Given the description of an element on the screen output the (x, y) to click on. 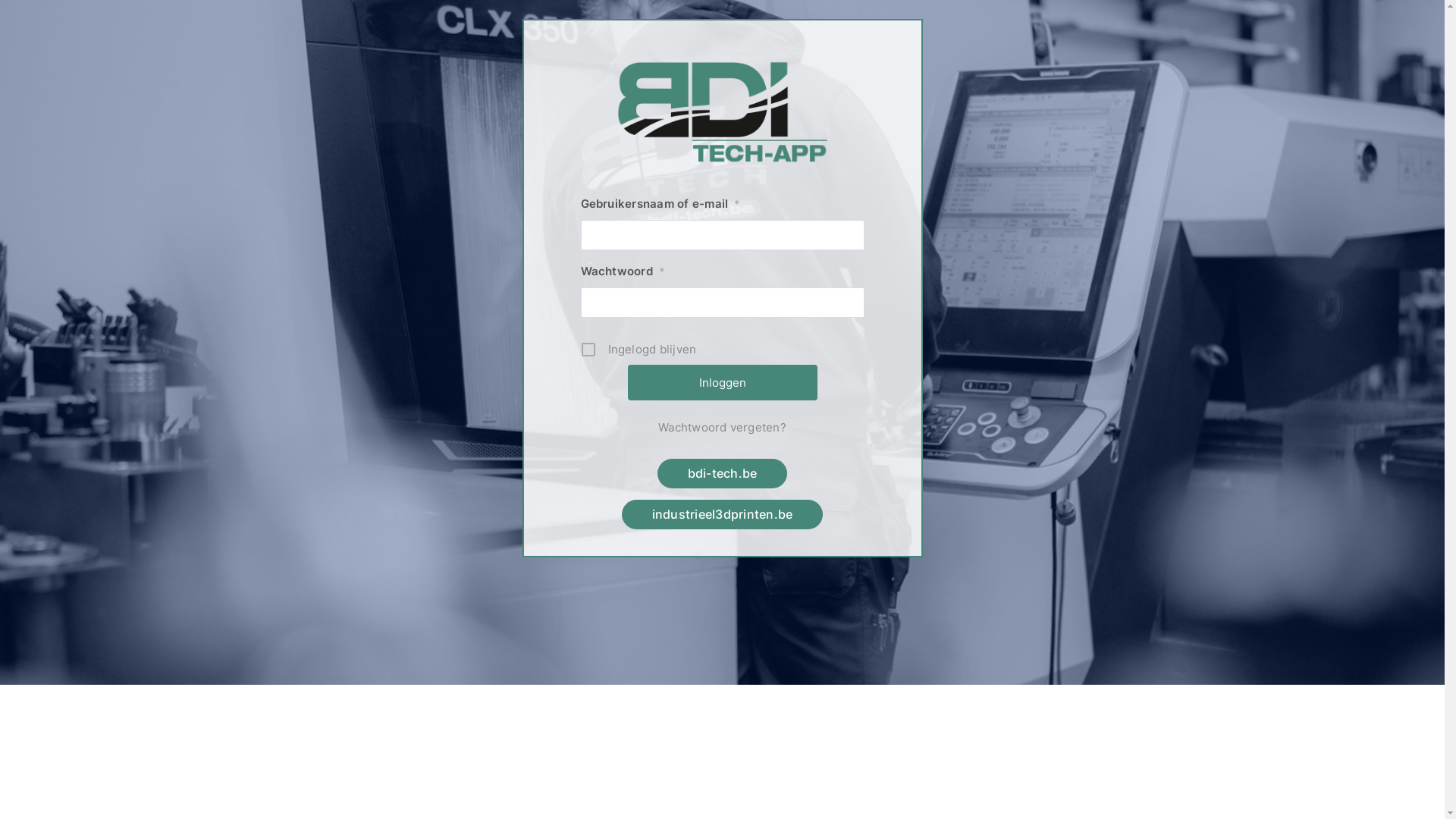
Inloggen Element type: text (722, 382)
industrieel3dprinten.be Element type: text (722, 514)
Wachtwoord vergeten? Element type: text (722, 427)
bdi-tech.be Element type: text (722, 473)
